Given the description of an element on the screen output the (x, y) to click on. 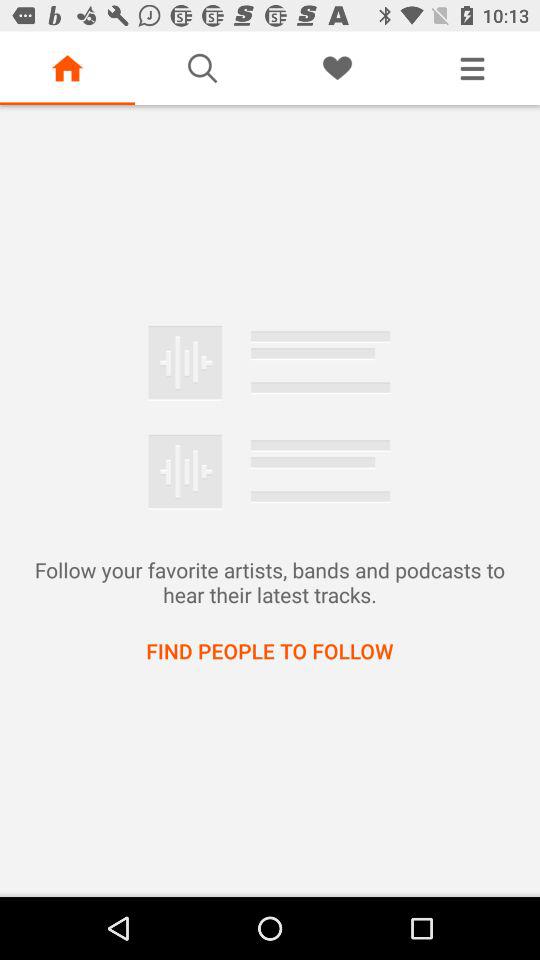
click the icon below the follow your favorite item (269, 650)
